Given the description of an element on the screen output the (x, y) to click on. 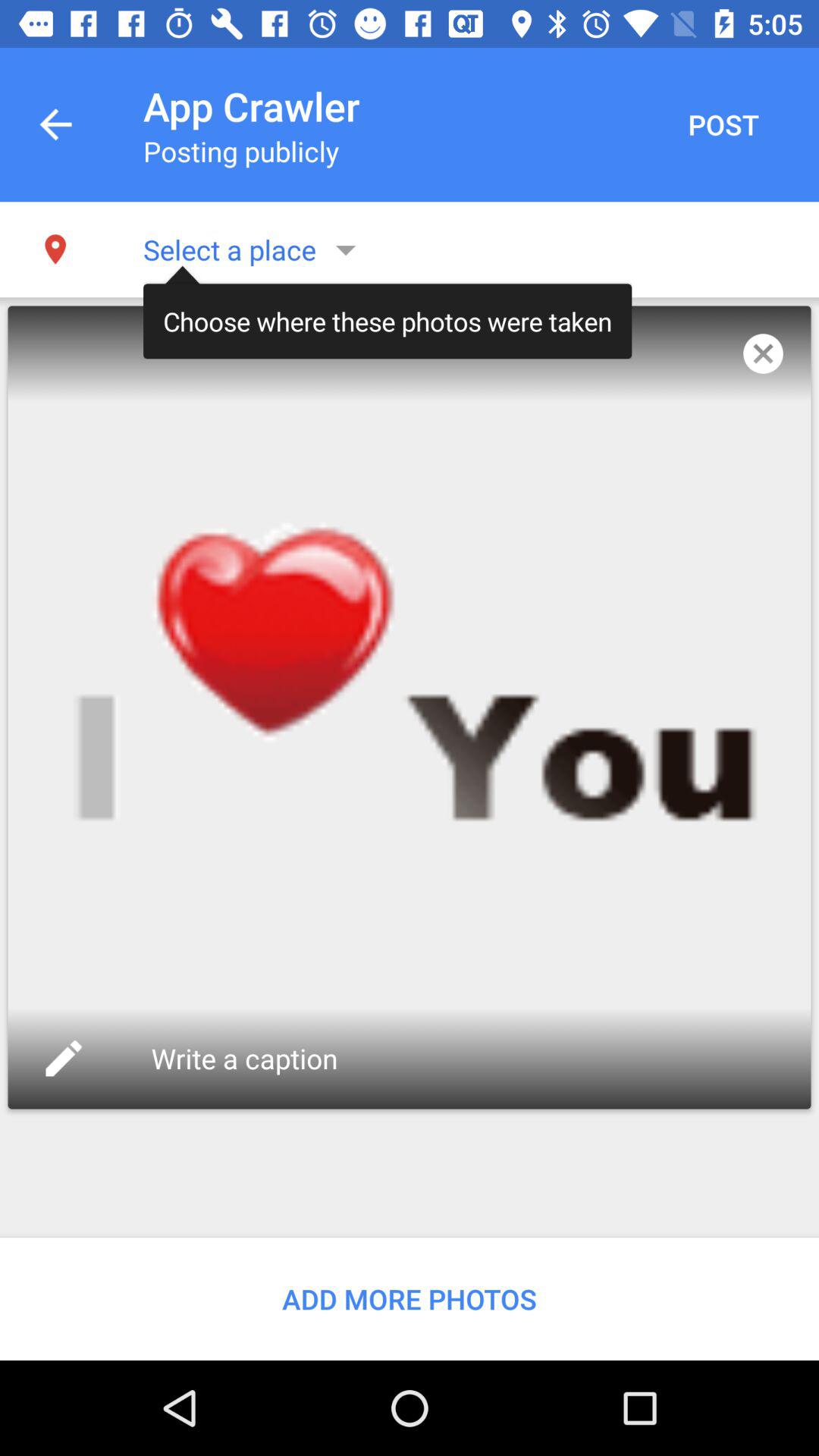
scroll until add more photos app (409, 1298)
